Given the description of an element on the screen output the (x, y) to click on. 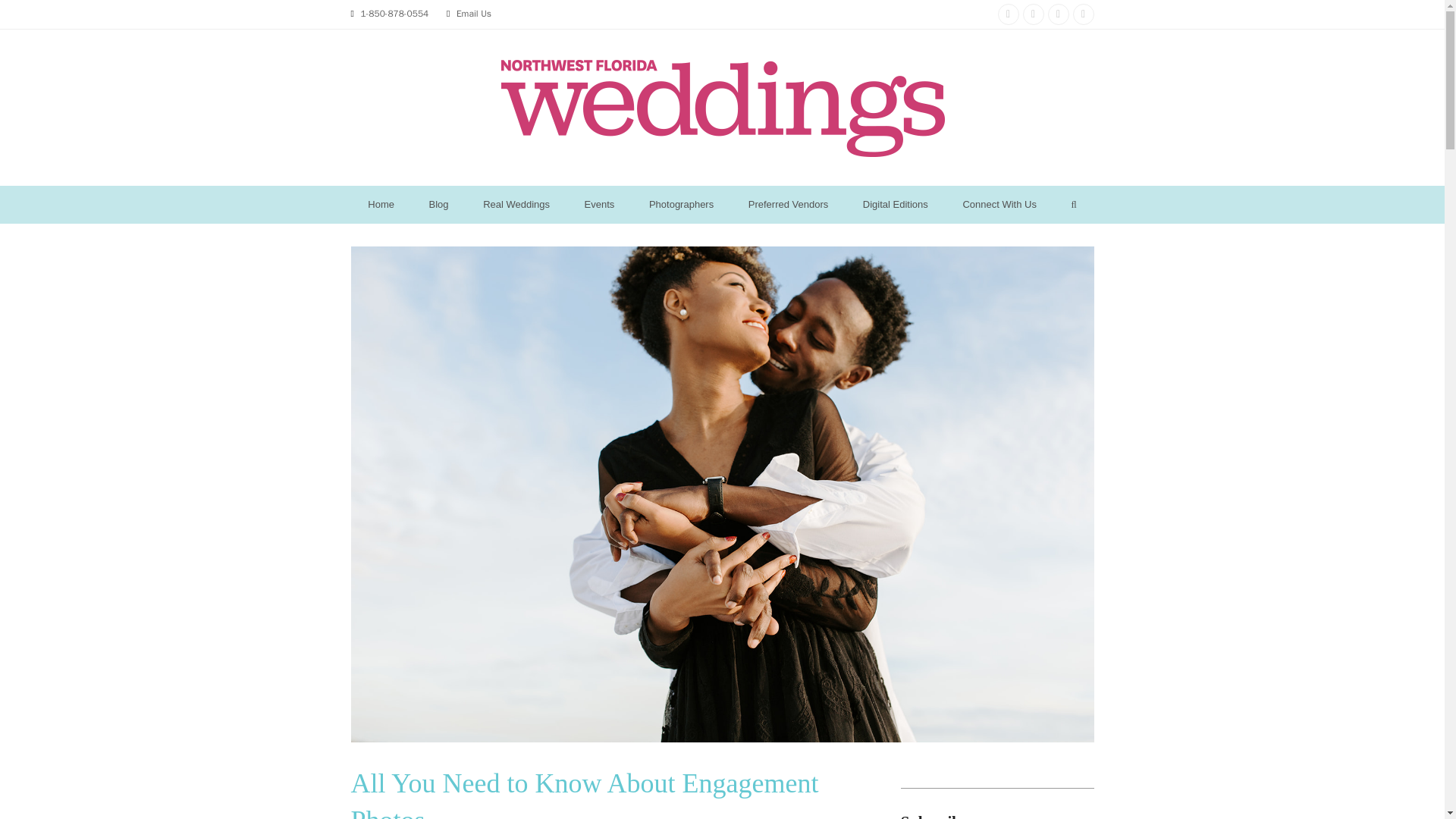
Photographers (680, 204)
Blog (438, 204)
Events (599, 204)
Instagram (1008, 14)
Real Weddings (515, 204)
Facebook (1032, 14)
Preferred Vendors (787, 204)
Twitter (1082, 14)
Pinterest (1058, 14)
Pinterest (1058, 14)
